Given the description of an element on the screen output the (x, y) to click on. 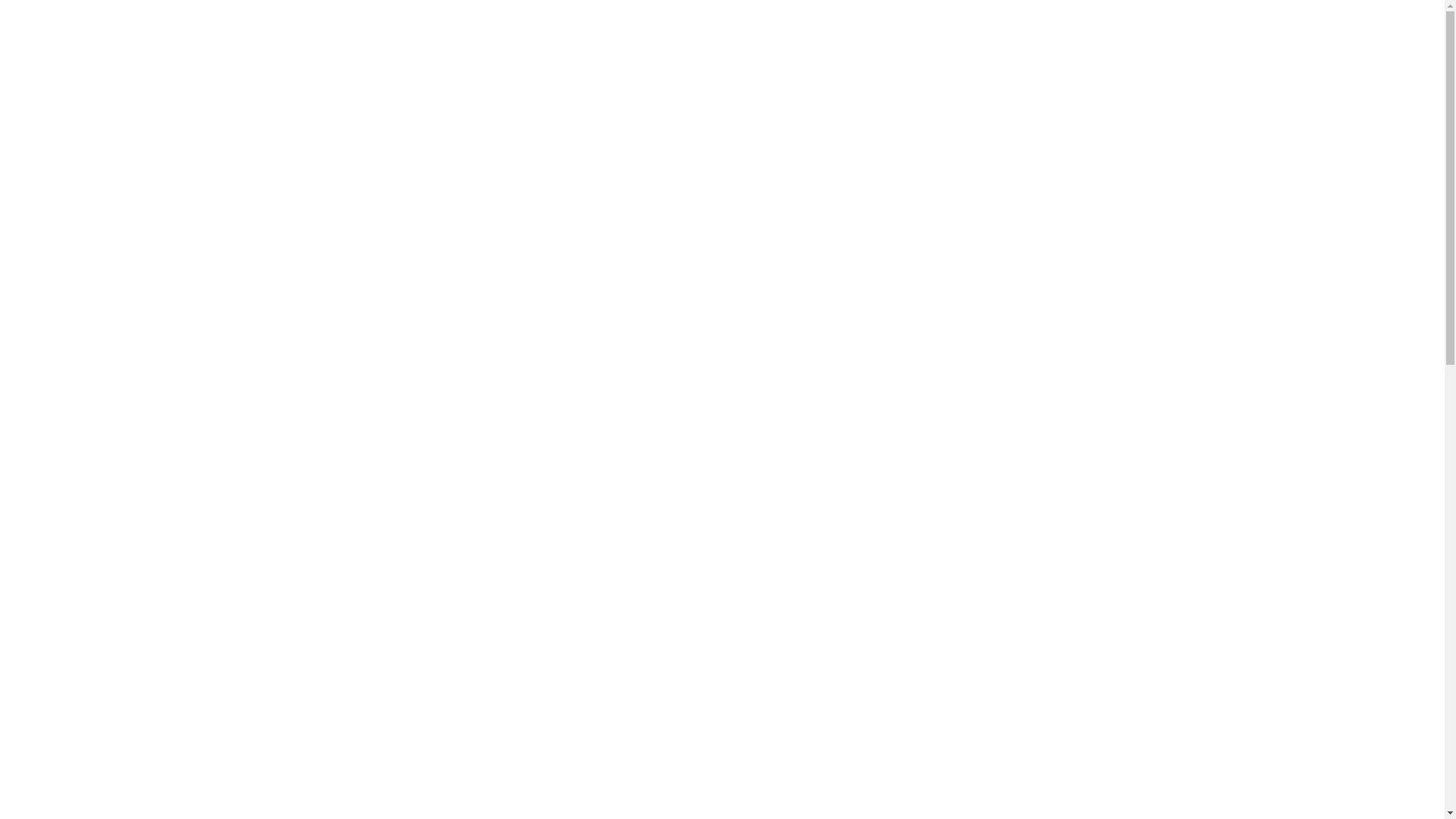
ENQUIRIES Element type: text (931, 45)
PRINTING Element type: text (673, 45)
CALL US 07 4099 5331 Element type: text (1066, 45)
PRODUCTS & GIFTS Element type: text (799, 45)
